Given the description of an element on the screen output the (x, y) to click on. 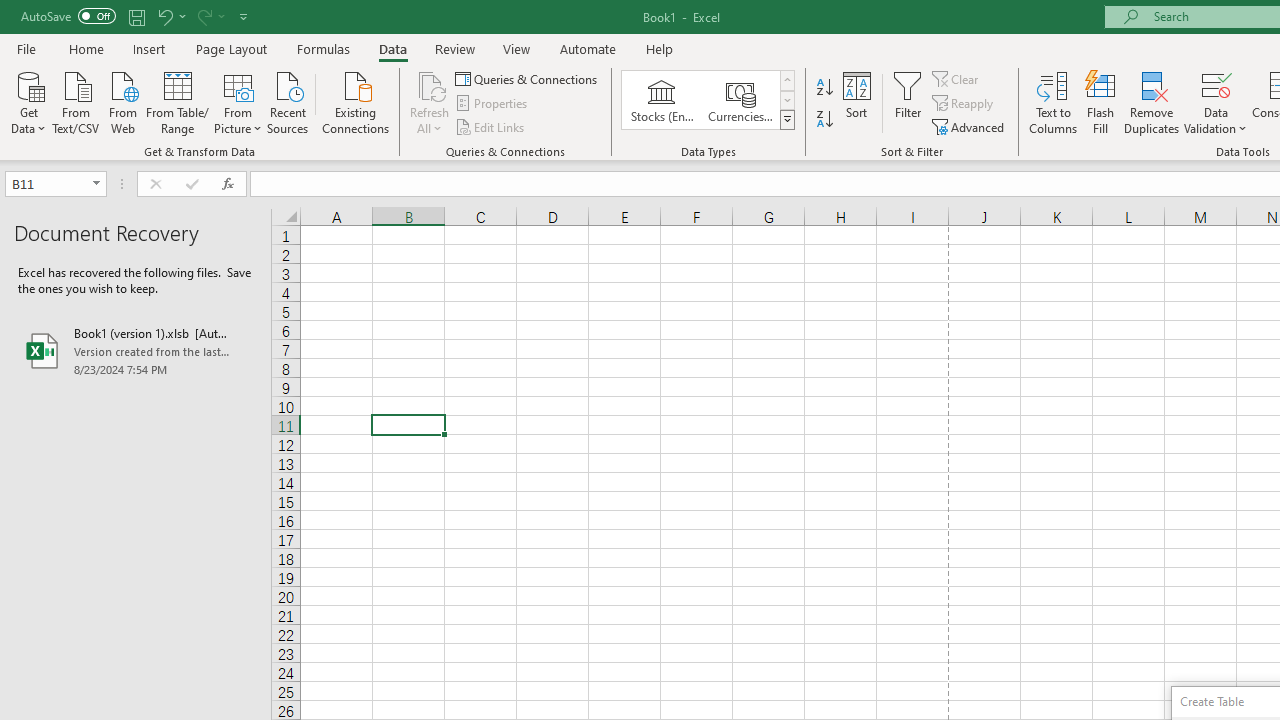
Remove Duplicates (1151, 102)
Automate (588, 48)
Row Down (786, 100)
Sort... (856, 102)
Edit Links (491, 126)
Flash Fill (1101, 102)
Sort A to Z (824, 87)
Refresh All (429, 84)
Get Data (28, 101)
